Given the description of an element on the screen output the (x, y) to click on. 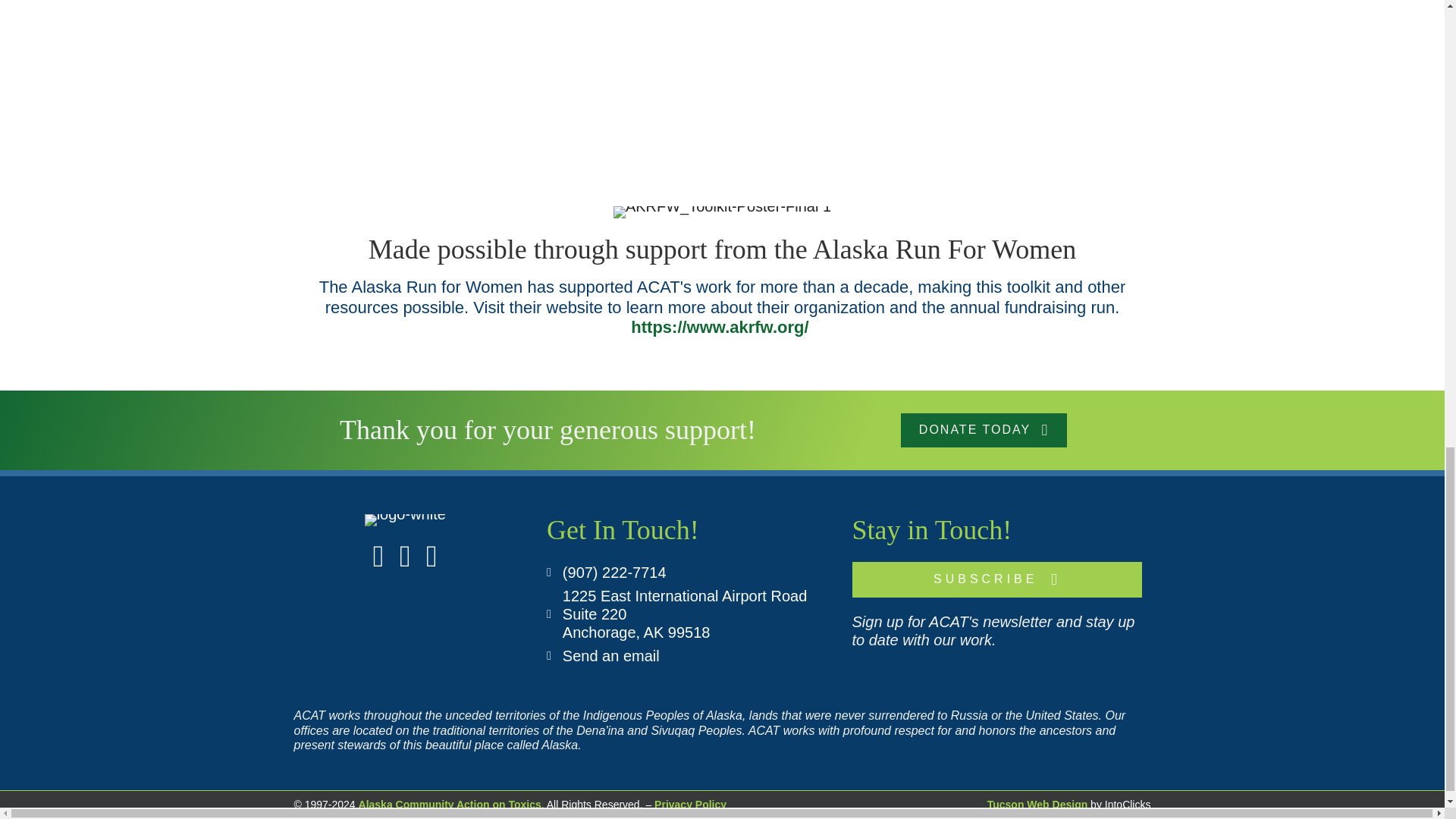
logo-white (405, 520)
